Given the description of an element on the screen output the (x, y) to click on. 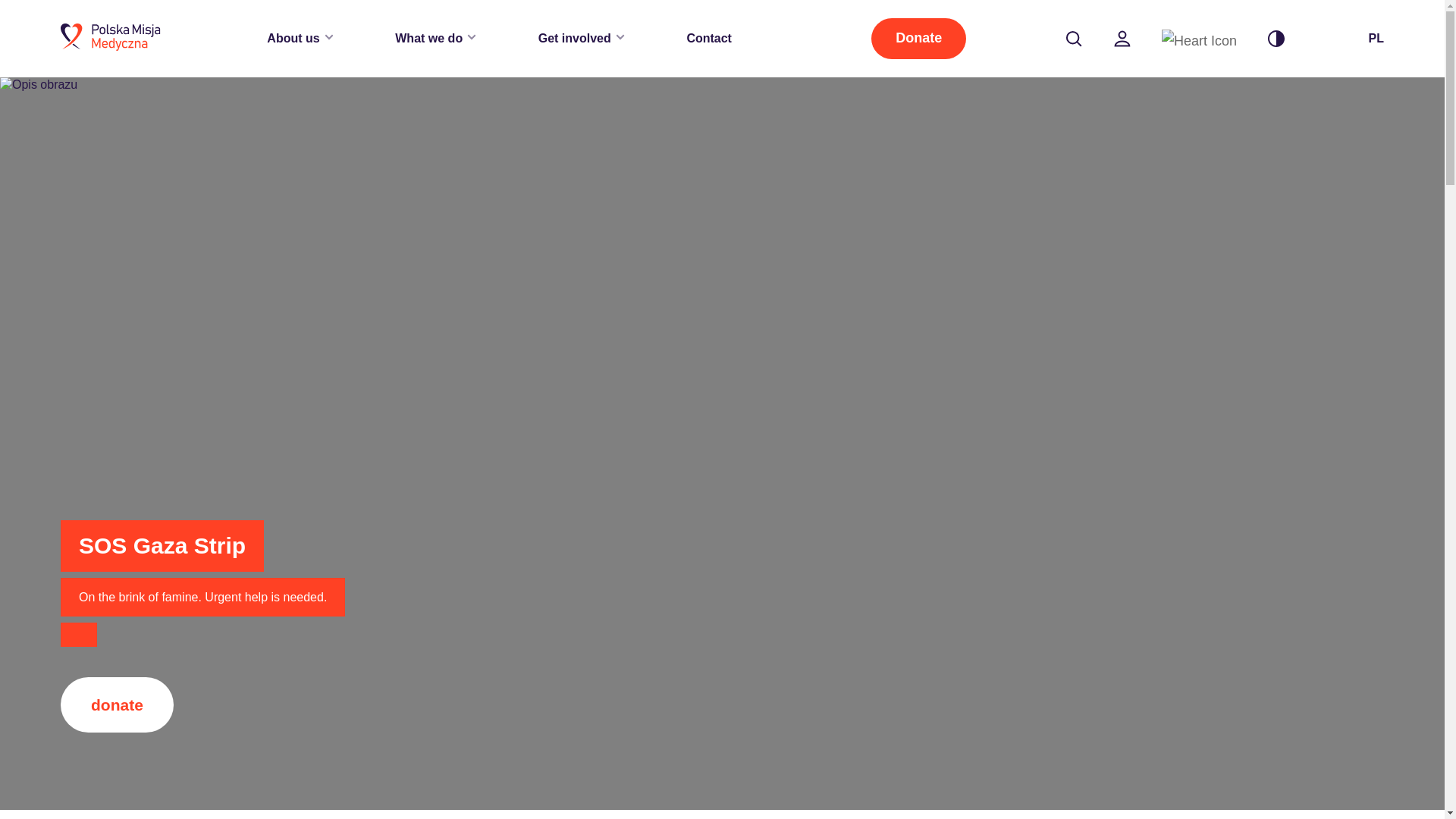
What we do (435, 38)
Donate (918, 38)
Get involved (581, 38)
